Given the description of an element on the screen output the (x, y) to click on. 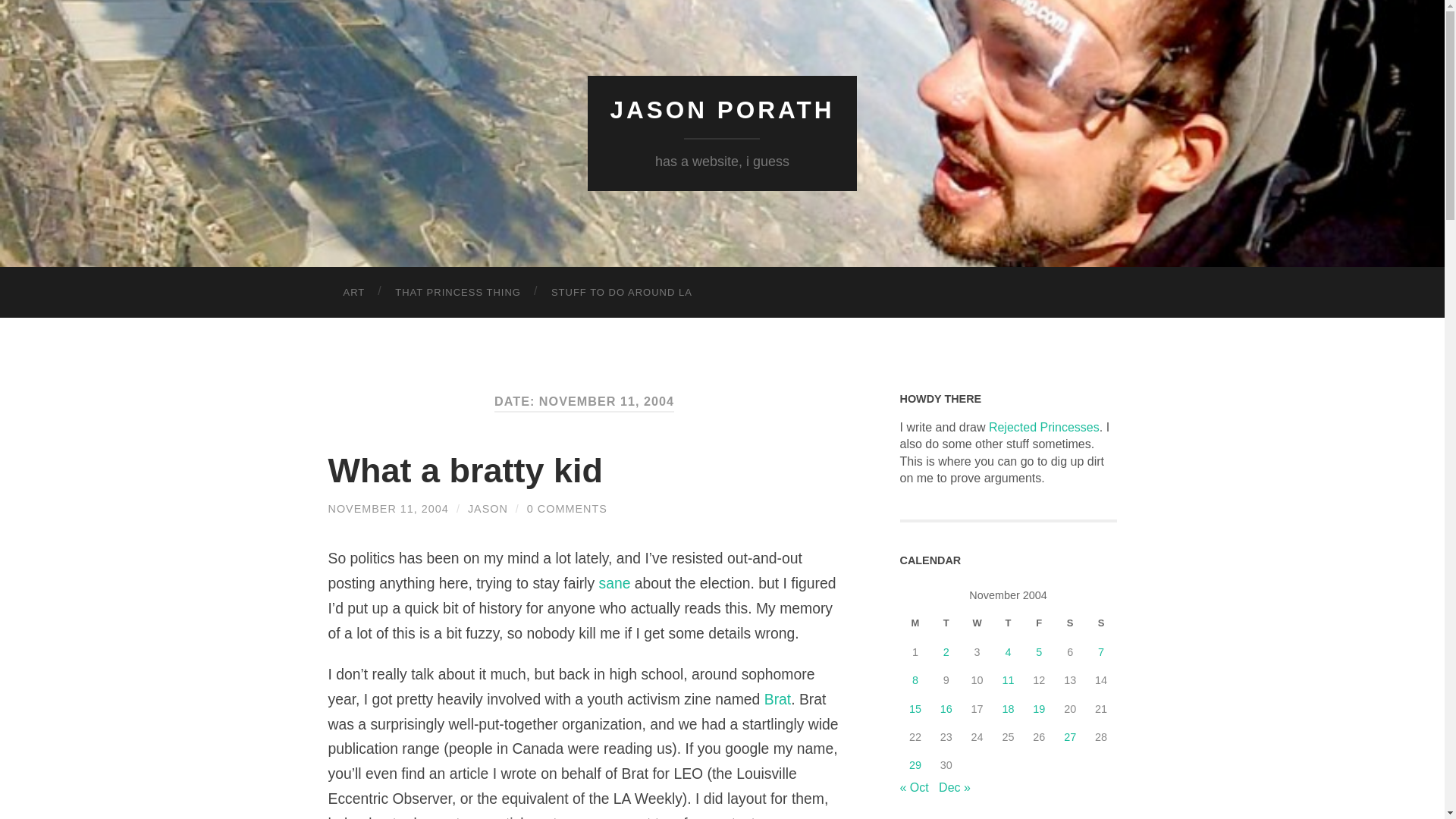
THAT PRINCESS THING (457, 291)
What a bratty kid (464, 470)
ART (353, 291)
What a bratty kid (387, 508)
NOVEMBER 11, 2004 (387, 508)
29 (914, 765)
19 (1038, 708)
15 (914, 708)
Posts by Jason (487, 508)
27 (1069, 736)
